Given the description of an element on the screen output the (x, y) to click on. 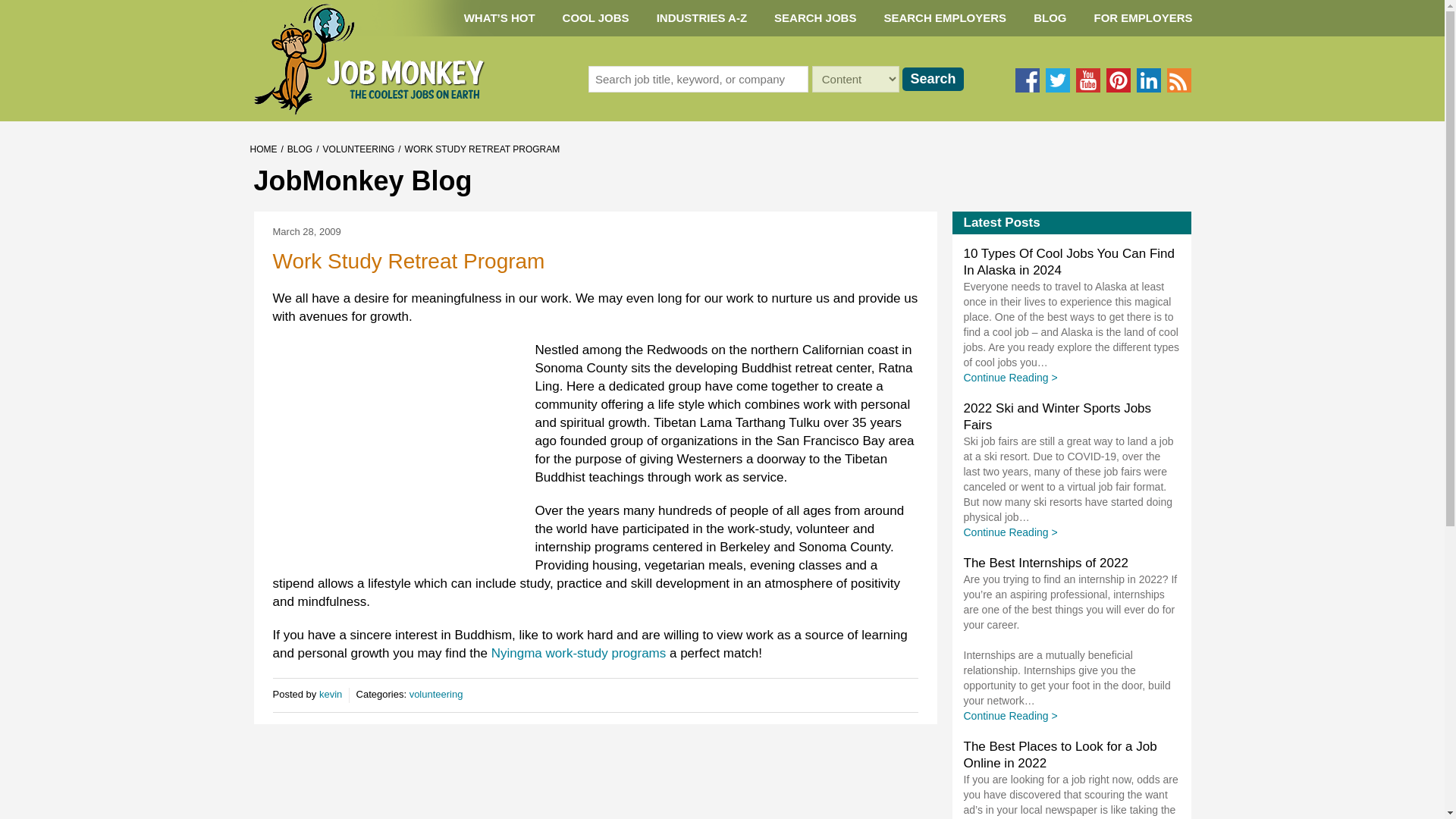
Follow us on Twitter (1056, 79)
Go to the volunteering category archives. (358, 149)
Search (932, 78)
Follow us on Pinterest (1117, 79)
Go to JobMonkey. (264, 149)
Connect with us on LinkedIn (1147, 79)
Follow us on Pinterest (1117, 79)
Subscribe to our blog (1178, 79)
SEARCH EMPLOYERS (944, 18)
SEARCH JOBS (814, 18)
Follow us on Facebook (1026, 79)
COOL JOBS (595, 18)
FOR EMPLOYERS (1142, 18)
Follow us on Twitter (1056, 79)
INDUSTRIES A-Z (701, 18)
